Given the description of an element on the screen output the (x, y) to click on. 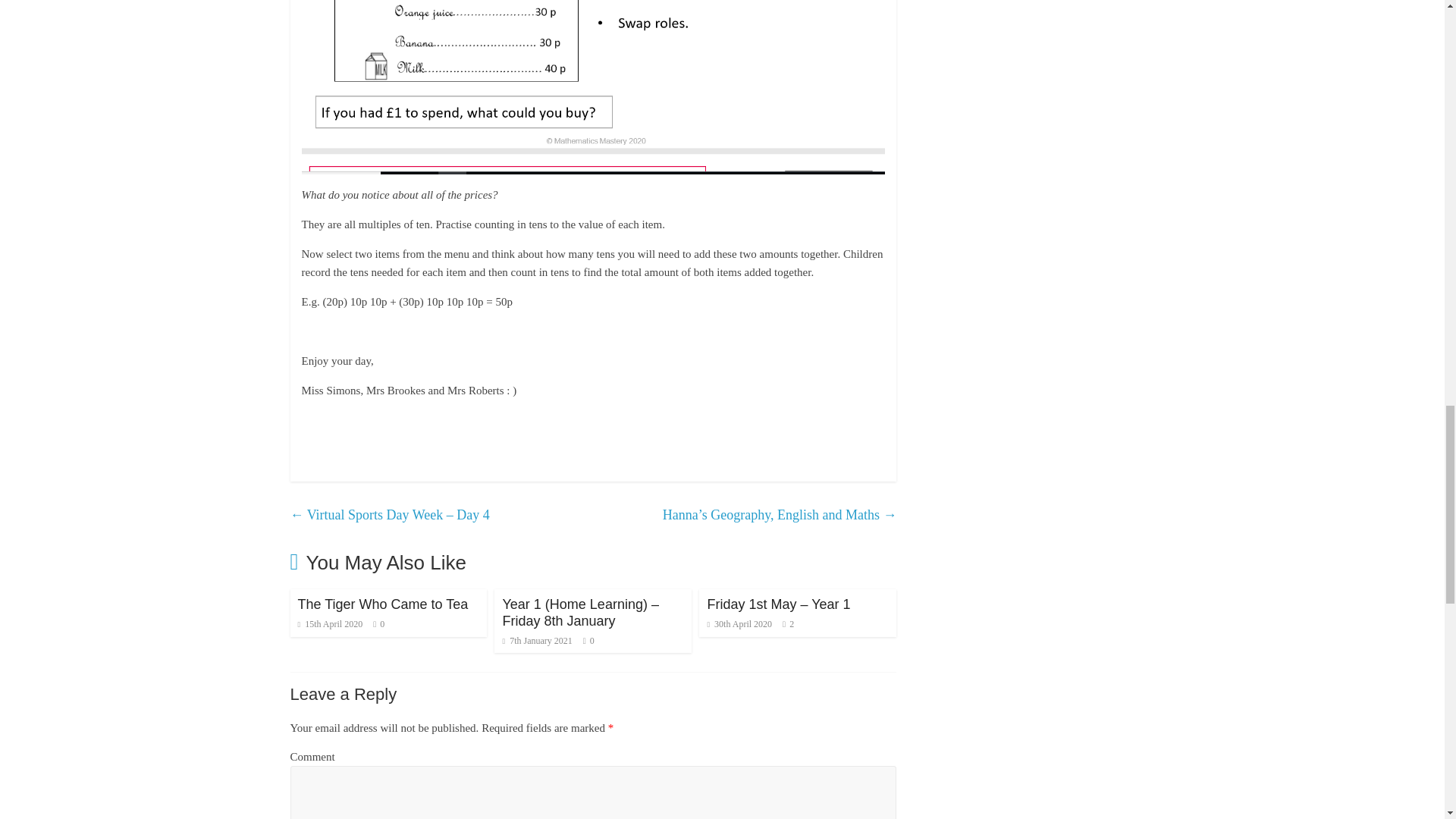
4:37 pm (329, 624)
12:00 pm (738, 624)
7th January 2021 (537, 640)
2:00 pm (537, 640)
The Tiger Who Came to Tea (382, 604)
30th April 2020 (738, 624)
The Tiger Who Came to Tea (382, 604)
15th April 2020 (329, 624)
